Given the description of an element on the screen output the (x, y) to click on. 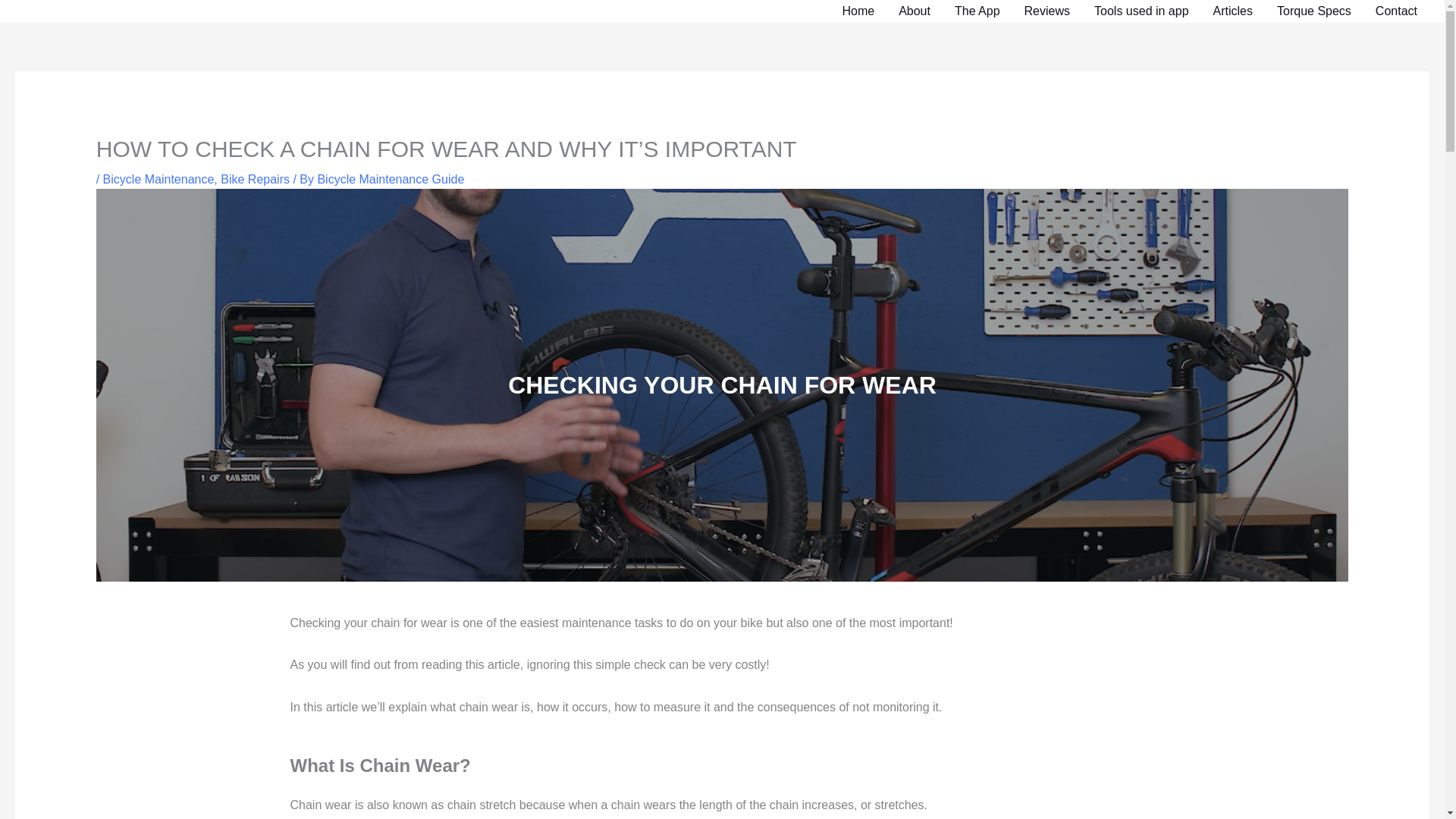
About (914, 11)
View all posts by Bicycle Maintenance Guide (390, 178)
Tools used in app (1141, 11)
Bike Repairs (255, 178)
The App (976, 11)
Reviews (1046, 11)
Torque Specs (1313, 11)
Articles (1233, 11)
Home (857, 11)
Bicycle Maintenance (158, 178)
